Given the description of an element on the screen output the (x, y) to click on. 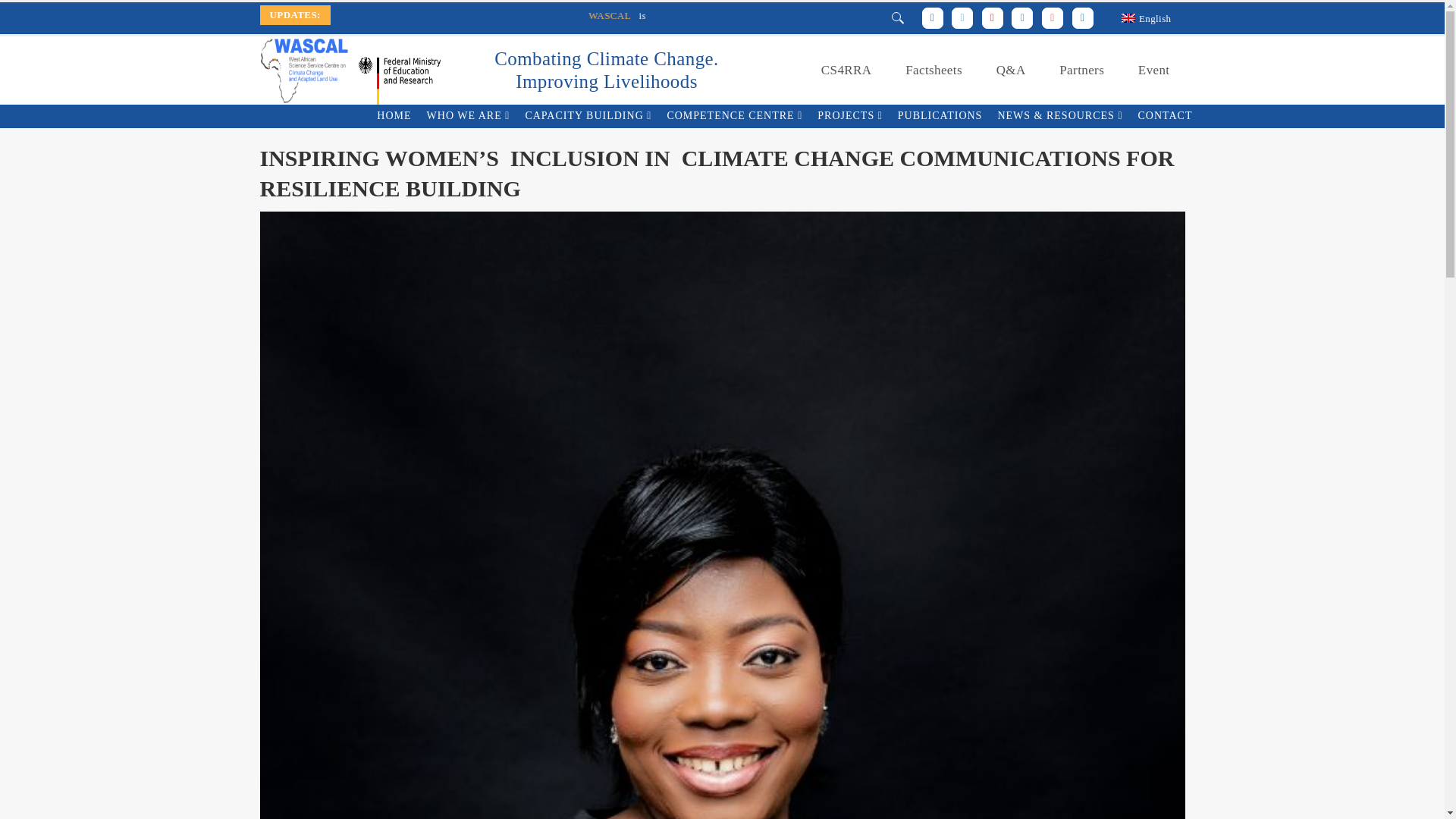
CAPACITY BUILDING (587, 115)
Factsheets (932, 70)
Search (863, 53)
CS4RRA (846, 70)
Event (1153, 70)
Partners (1081, 70)
COMPETENCE CENTRE (734, 115)
HOME (394, 115)
WHO WE ARE (468, 115)
English (1146, 17)
